Given the description of an element on the screen output the (x, y) to click on. 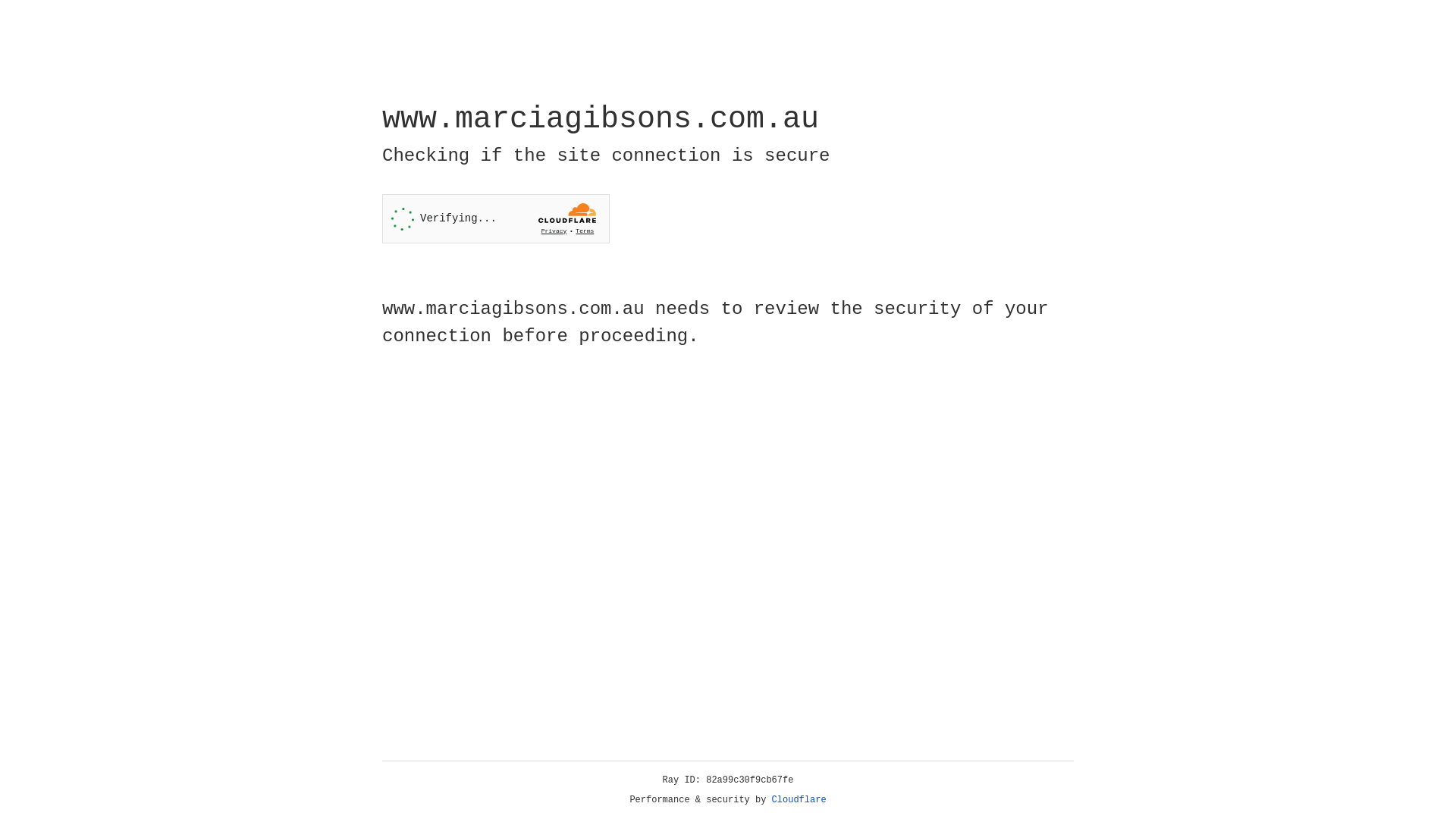
Cloudflare Element type: text (798, 799)
Widget containing a Cloudflare security challenge Element type: hover (495, 218)
